Given the description of an element on the screen output the (x, y) to click on. 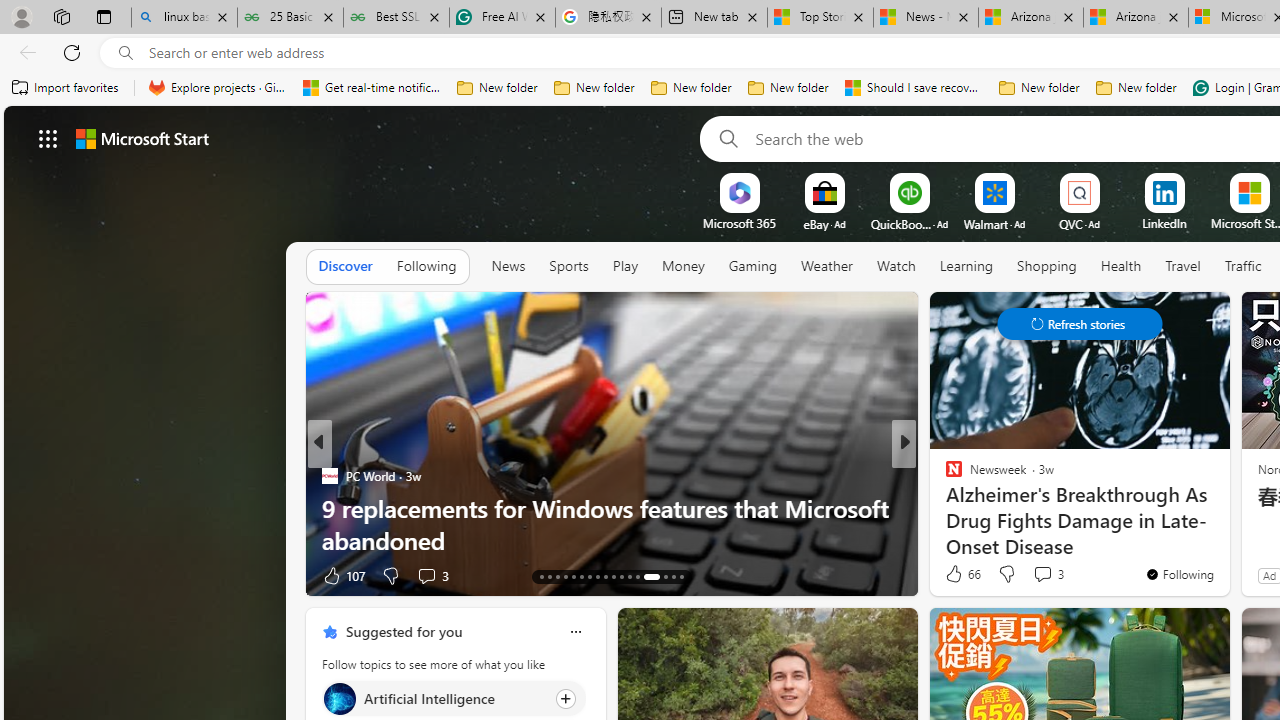
Watch (896, 267)
Class: icon-img (575, 632)
Traffic (1243, 265)
Should I save recovered Word documents? - Microsoft Support (913, 88)
AutomationID: tab-27 (664, 576)
Play (625, 267)
Money (682, 265)
AutomationID: tab-25 (637, 576)
Suggested for you (404, 631)
View comments 16 Comment (1042, 575)
You're following Newsweek (1179, 573)
